Given the description of an element on the screen output the (x, y) to click on. 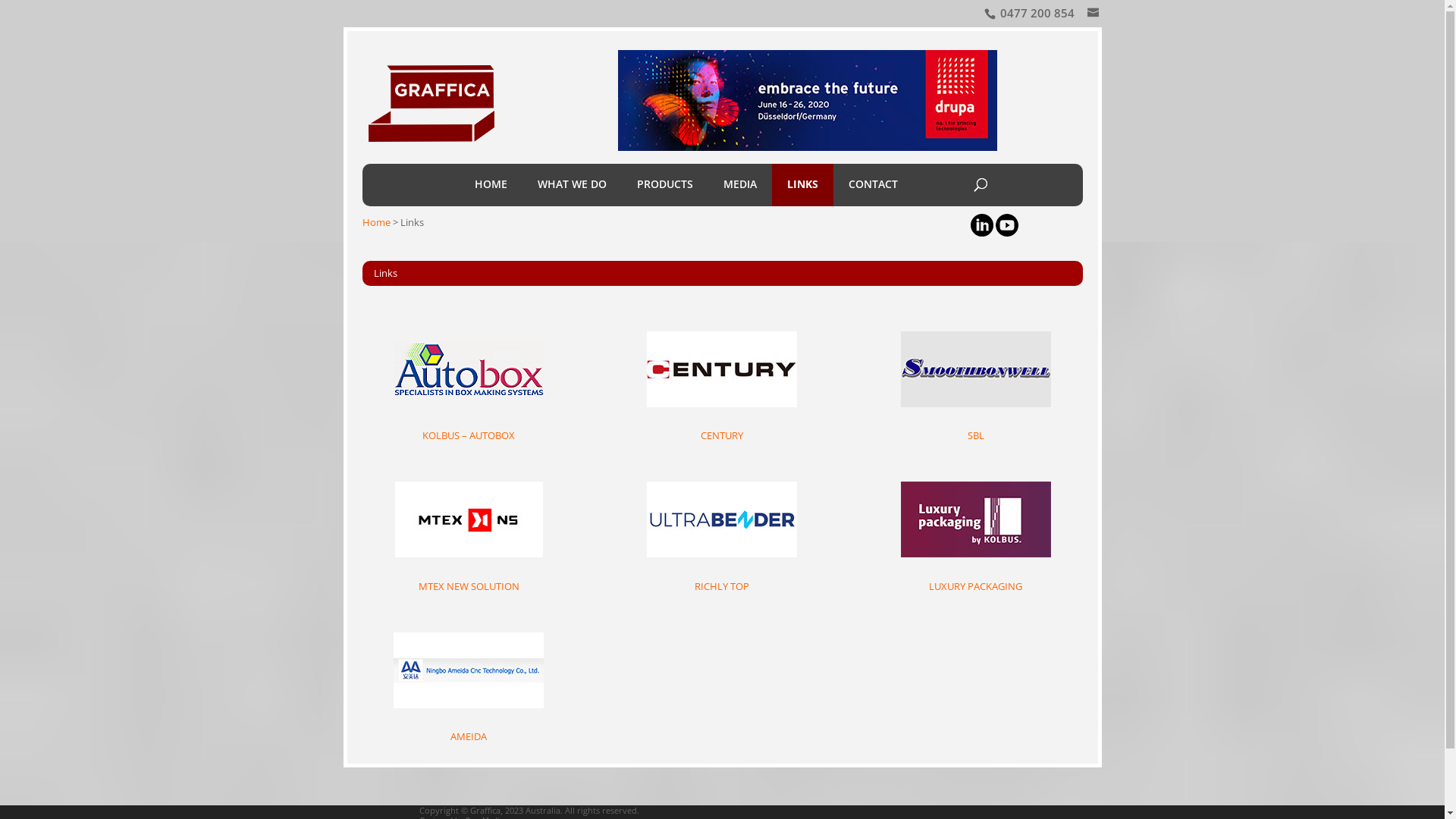
CONTACT Element type: text (873, 184)
Home Element type: text (376, 222)
LUXURY PACKAGING Element type: text (975, 586)
AMEIDA Element type: text (468, 736)
SBL Element type: text (975, 435)
CENTURY Element type: text (721, 435)
WHAT WE DO Element type: text (571, 184)
HOME Element type: text (490, 184)
MEDIA Element type: text (739, 184)
LINKS Element type: text (802, 184)
PRODUCTS Element type: text (664, 184)
MTEX NEW SOLUTION Element type: text (468, 586)
RICHLY TOP Element type: text (721, 586)
0477 200 854 Element type: text (1036, 12)
